Given the description of an element on the screen output the (x, y) to click on. 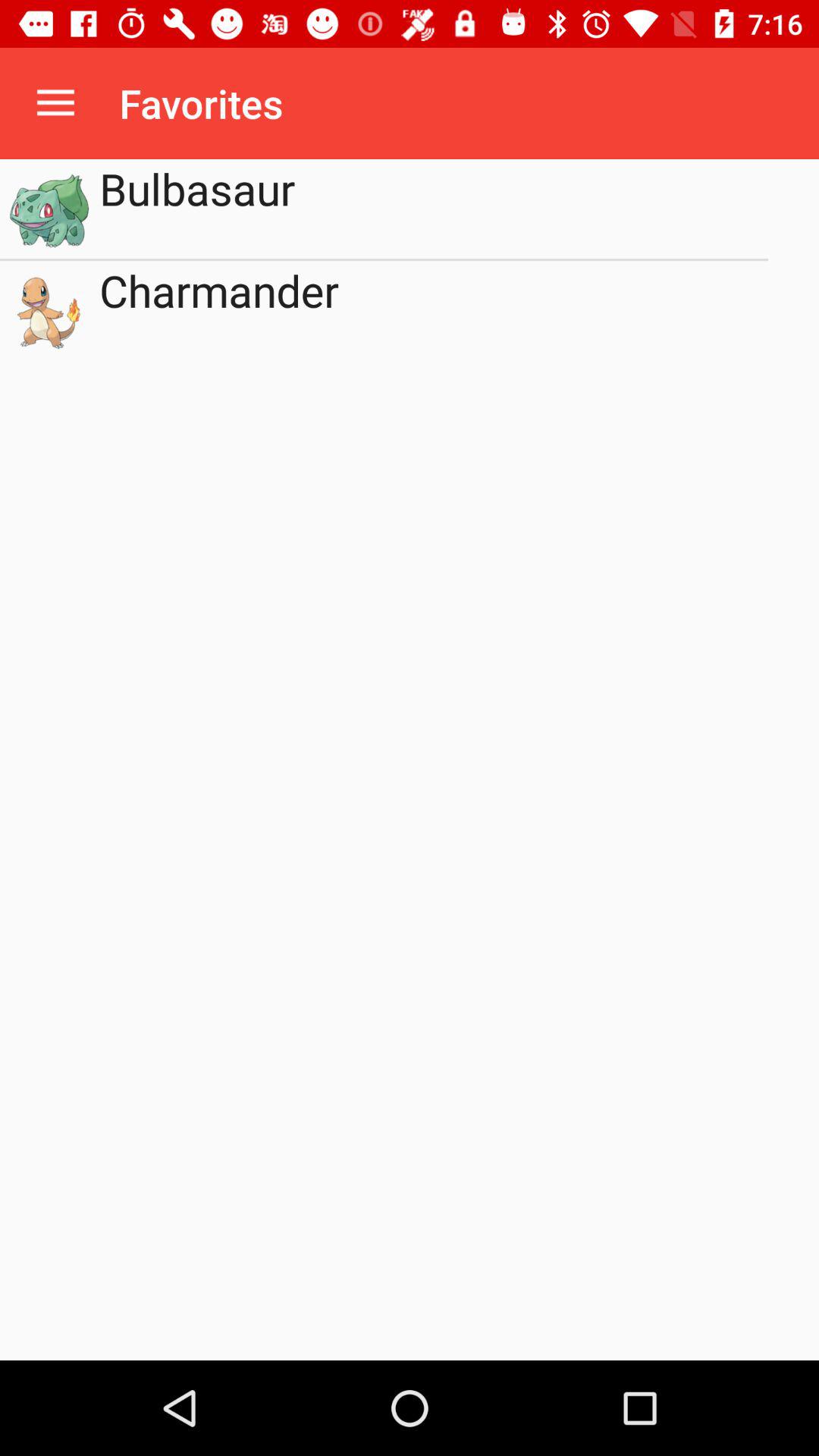
swipe to the charmander (433, 310)
